Given the description of an element on the screen output the (x, y) to click on. 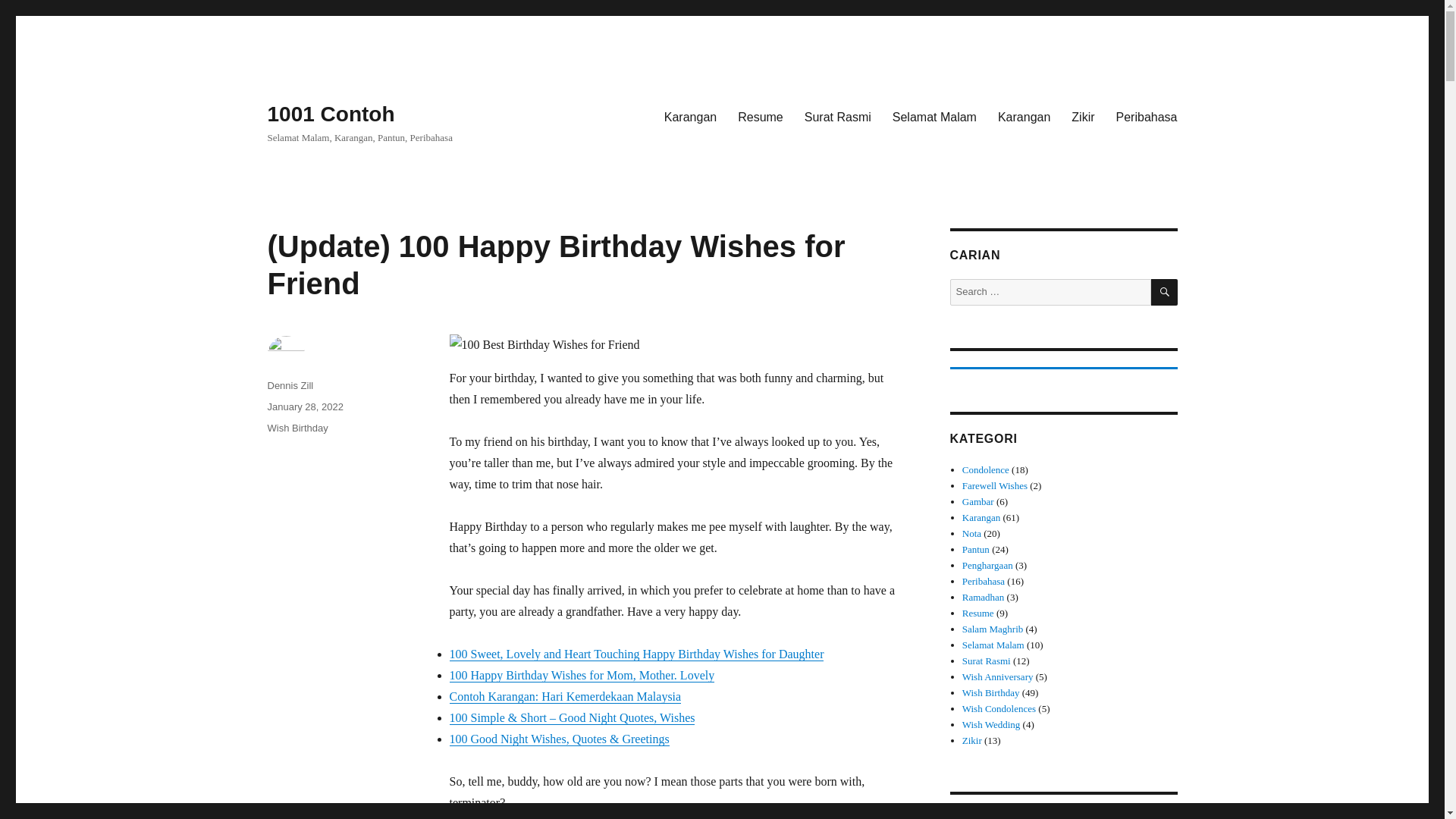
Karangan (689, 116)
Surat Rasmi (837, 116)
Nota (971, 532)
Penghargaan (987, 564)
Dennis Zill (289, 385)
Contoh Karangan: Hari Kemerdekaan Malaysia (564, 696)
Condolence (985, 469)
SEARCH (1164, 292)
Wish Condolences (998, 708)
Resume (759, 116)
Pantun (976, 549)
Wish Wedding (991, 724)
Selamat Malam (993, 644)
Wish Anniversary (997, 676)
Wish Birthday (991, 692)
